Given the description of an element on the screen output the (x, y) to click on. 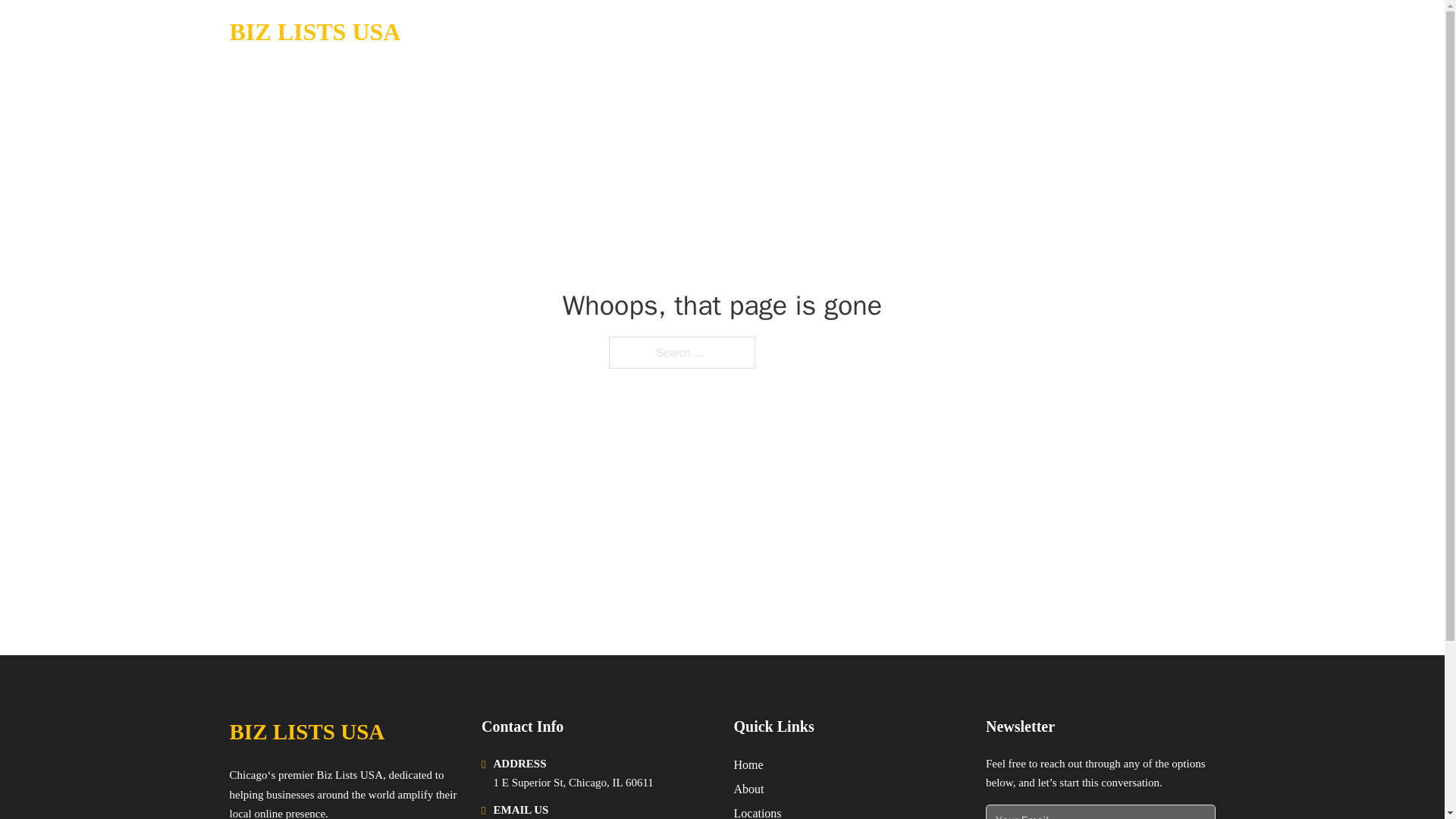
BIZ LISTS USA (306, 732)
Home (747, 764)
BIZ LISTS USA (314, 31)
About (748, 788)
LOCATIONS (1098, 31)
HOME (1025, 31)
Locations (757, 811)
